Given the description of an element on the screen output the (x, y) to click on. 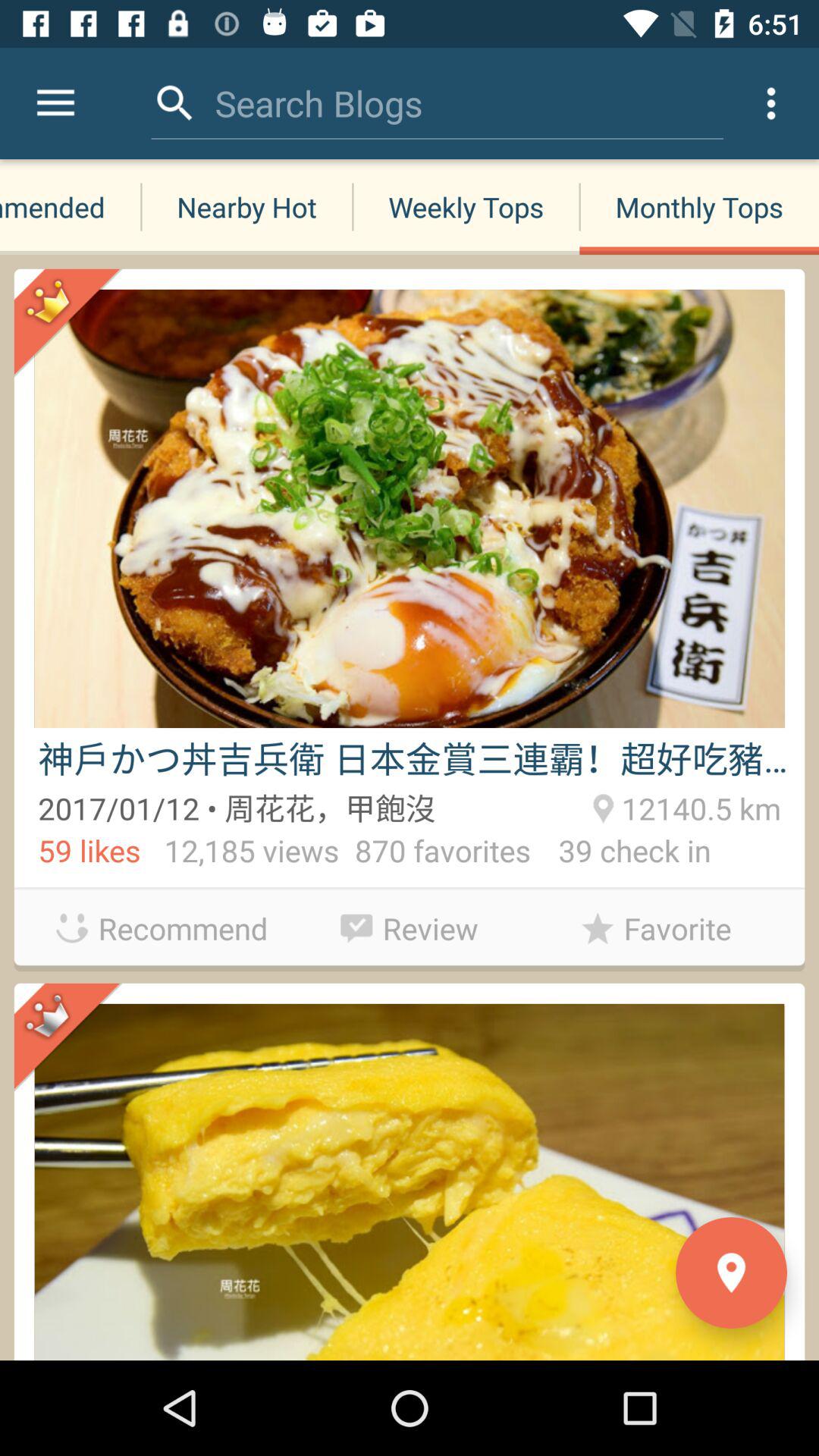
click icon next to the weekly tops (699, 206)
